Given the description of an element on the screen output the (x, y) to click on. 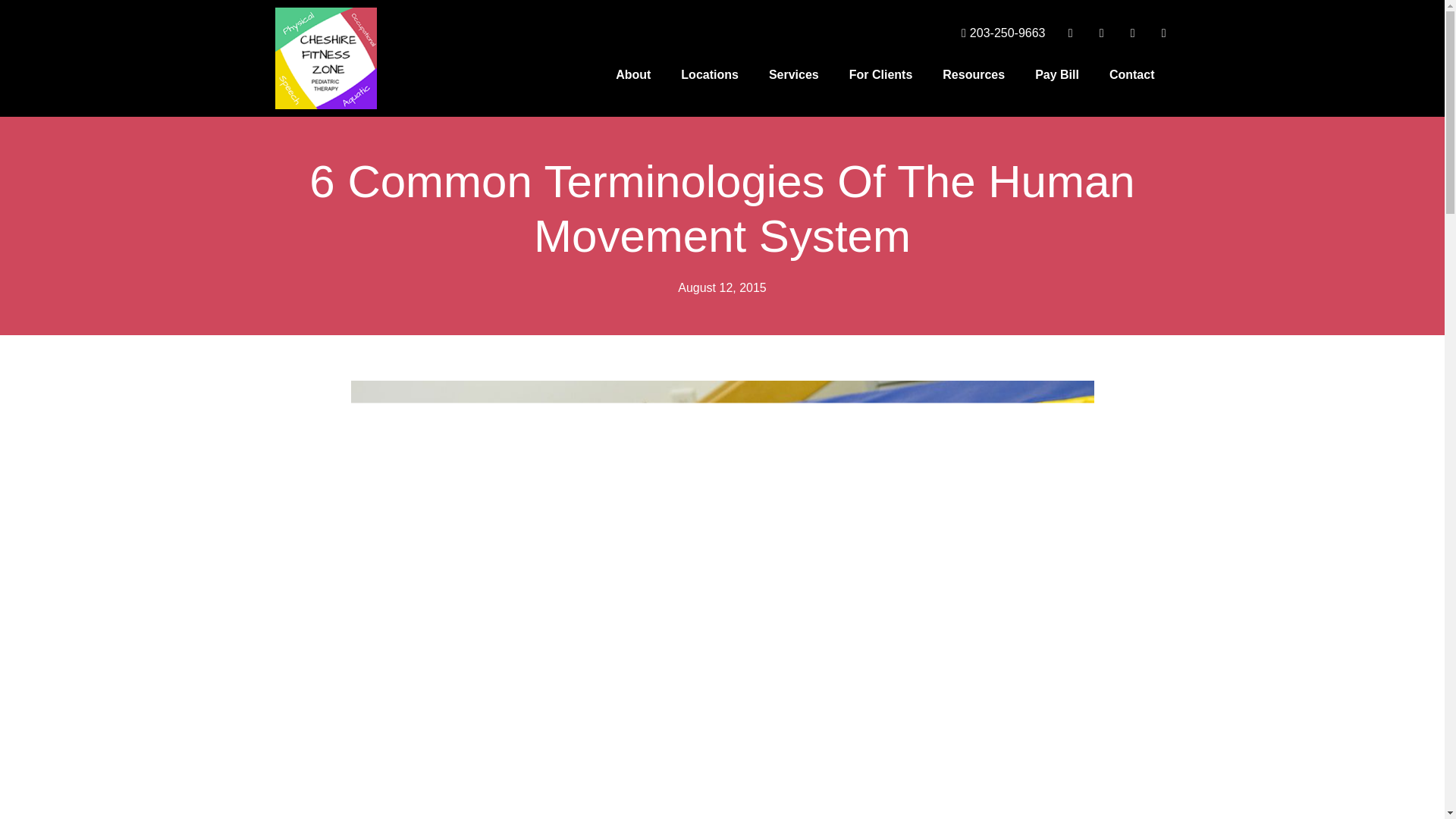
203-250-9663 (997, 33)
Resources (973, 74)
Services (794, 74)
Pay Bill (1057, 74)
For Clients (881, 74)
Contact (1132, 74)
About (632, 74)
Locations (709, 74)
